Given the description of an element on the screen output the (x, y) to click on. 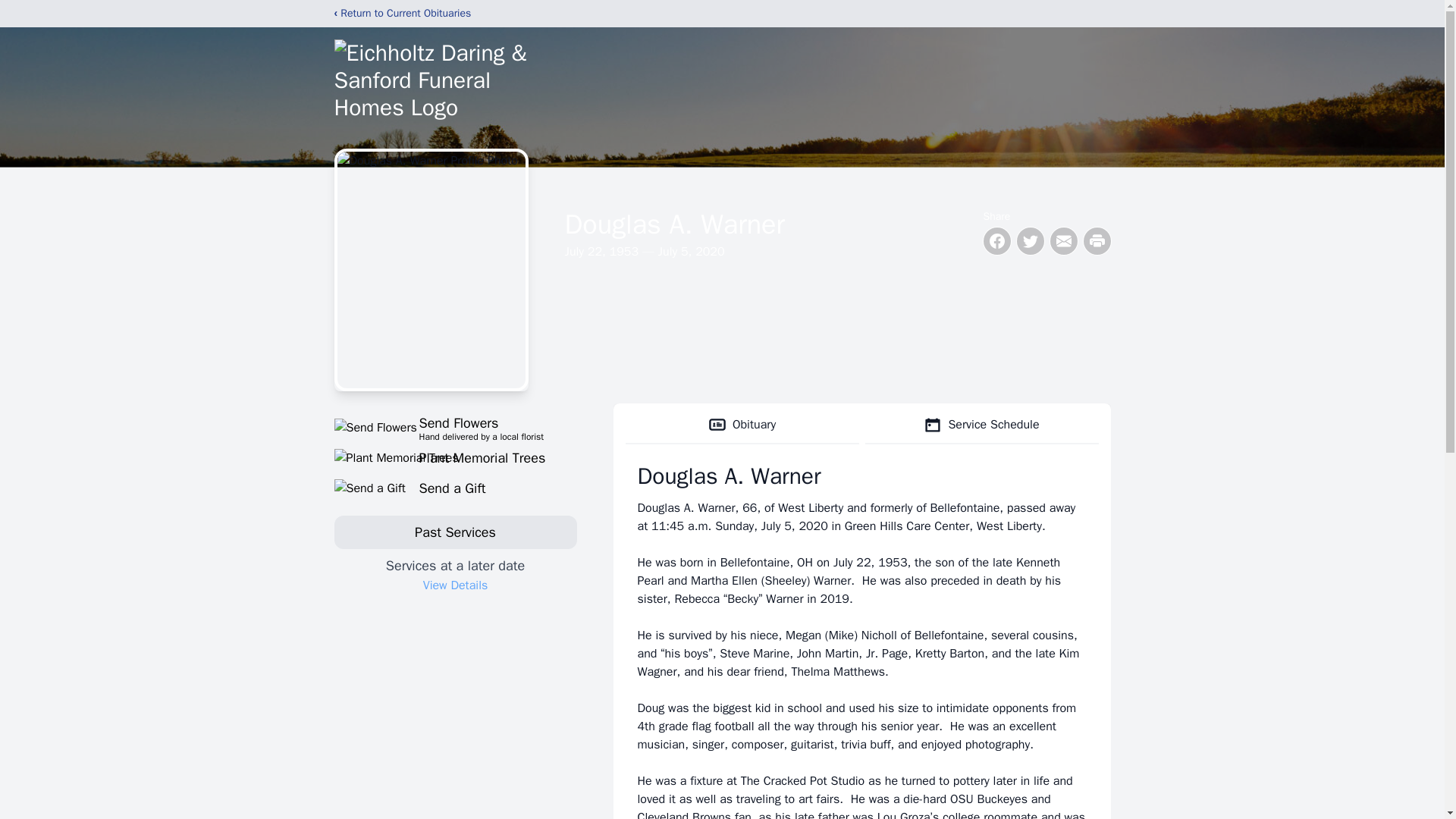
Obituary (741, 425)
Service Schedule (980, 425)
Plant Memorial Trees (454, 427)
Send a Gift (454, 457)
View Details (454, 488)
